Given the description of an element on the screen output the (x, y) to click on. 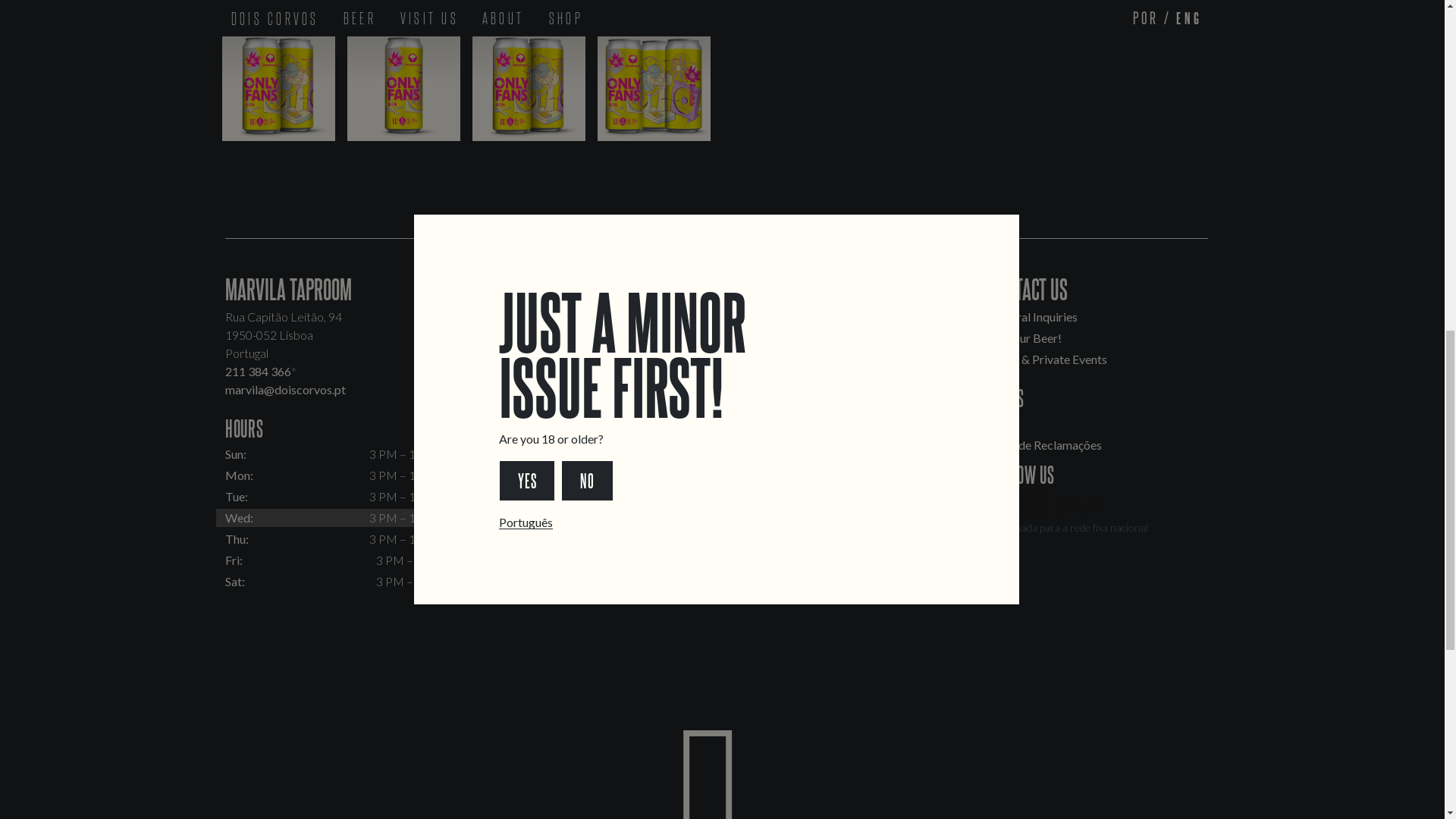
BREWERY (767, 287)
218 120 093 (513, 370)
MARVILA TAPROOM (288, 287)
INTENDENTE TAPROOM (552, 287)
211 331 093 (767, 389)
211 384 366 (258, 370)
